Given the description of an element on the screen output the (x, y) to click on. 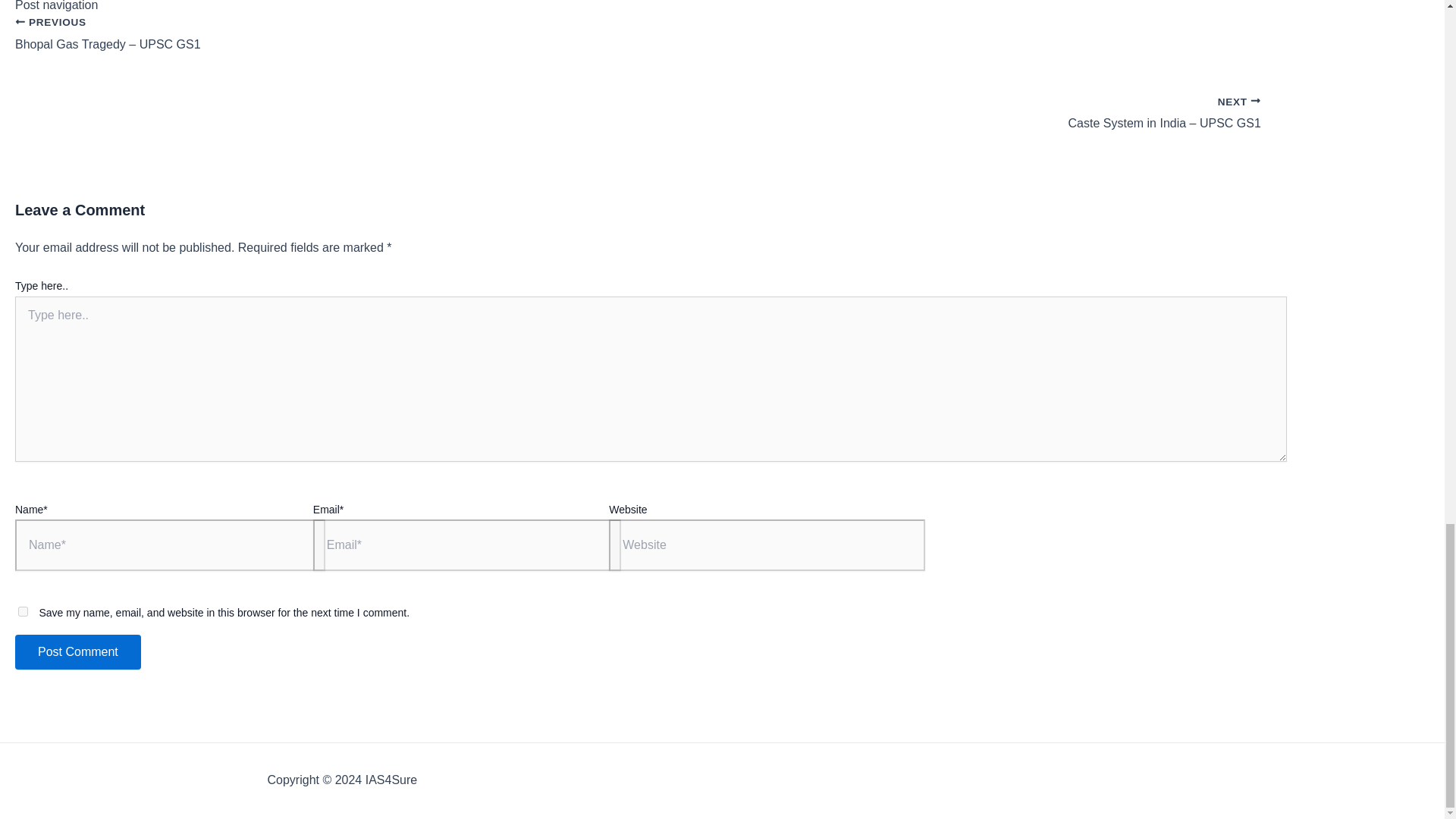
yes (22, 611)
Bhopal Gas Tragedy - UPSC GS1 (637, 42)
Caste System in India - UPSC GS1 (637, 104)
Post Comment (77, 651)
